Given the description of an element on the screen output the (x, y) to click on. 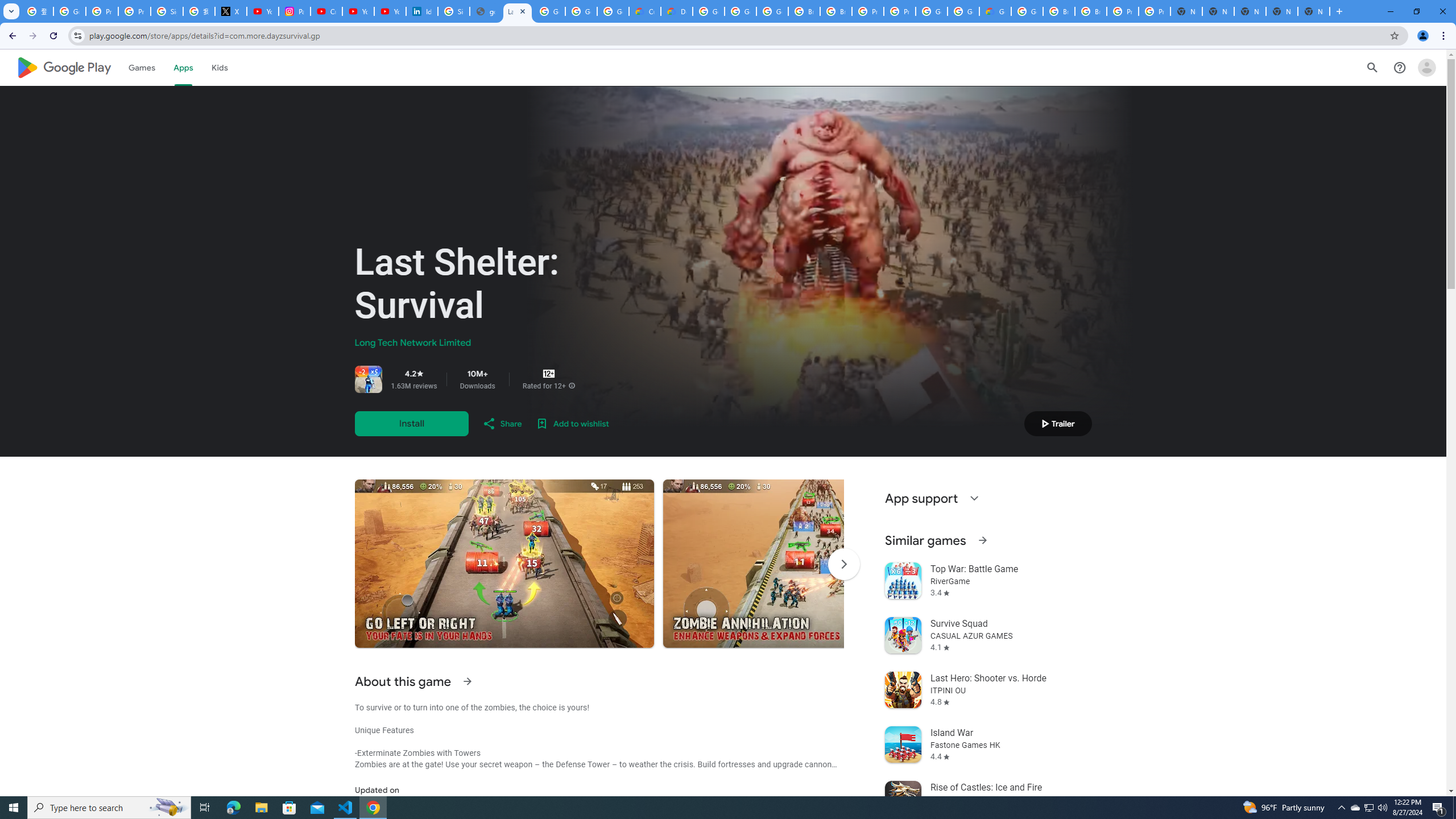
Browse Chrome as a guest - Computer - Google Chrome Help (1091, 11)
